Given the description of an element on the screen output the (x, y) to click on. 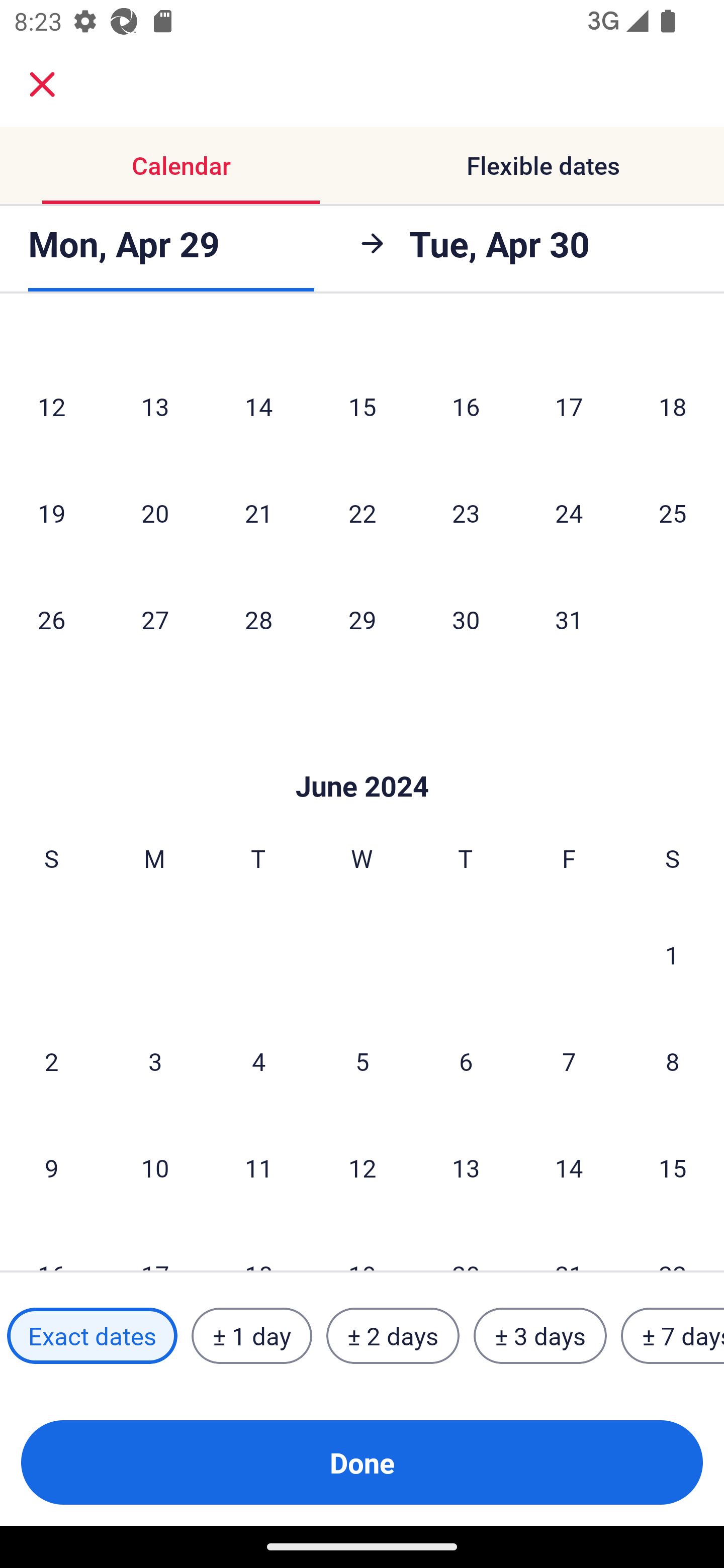
close. (42, 84)
Flexible dates (542, 164)
12 Sunday, May 12, 2024 (51, 405)
13 Monday, May 13, 2024 (155, 405)
14 Tuesday, May 14, 2024 (258, 405)
15 Wednesday, May 15, 2024 (362, 405)
16 Thursday, May 16, 2024 (465, 405)
17 Friday, May 17, 2024 (569, 405)
18 Saturday, May 18, 2024 (672, 405)
19 Sunday, May 19, 2024 (51, 512)
20 Monday, May 20, 2024 (155, 512)
21 Tuesday, May 21, 2024 (258, 512)
22 Wednesday, May 22, 2024 (362, 512)
23 Thursday, May 23, 2024 (465, 512)
24 Friday, May 24, 2024 (569, 512)
25 Saturday, May 25, 2024 (672, 512)
26 Sunday, May 26, 2024 (51, 619)
27 Monday, May 27, 2024 (155, 619)
28 Tuesday, May 28, 2024 (258, 619)
29 Wednesday, May 29, 2024 (362, 619)
30 Thursday, May 30, 2024 (465, 619)
31 Friday, May 31, 2024 (569, 619)
Skip to Done (362, 755)
1 Saturday, June 1, 2024 (672, 954)
2 Sunday, June 2, 2024 (51, 1061)
3 Monday, June 3, 2024 (155, 1061)
4 Tuesday, June 4, 2024 (258, 1061)
5 Wednesday, June 5, 2024 (362, 1061)
6 Thursday, June 6, 2024 (465, 1061)
7 Friday, June 7, 2024 (569, 1061)
8 Saturday, June 8, 2024 (672, 1061)
9 Sunday, June 9, 2024 (51, 1167)
10 Monday, June 10, 2024 (155, 1167)
11 Tuesday, June 11, 2024 (258, 1167)
12 Wednesday, June 12, 2024 (362, 1167)
13 Thursday, June 13, 2024 (465, 1167)
14 Friday, June 14, 2024 (569, 1167)
15 Saturday, June 15, 2024 (672, 1167)
Exact dates (92, 1335)
± 1 day (251, 1335)
± 2 days (392, 1335)
± 3 days (539, 1335)
± 7 days (672, 1335)
Done (361, 1462)
